Given the description of an element on the screen output the (x, y) to click on. 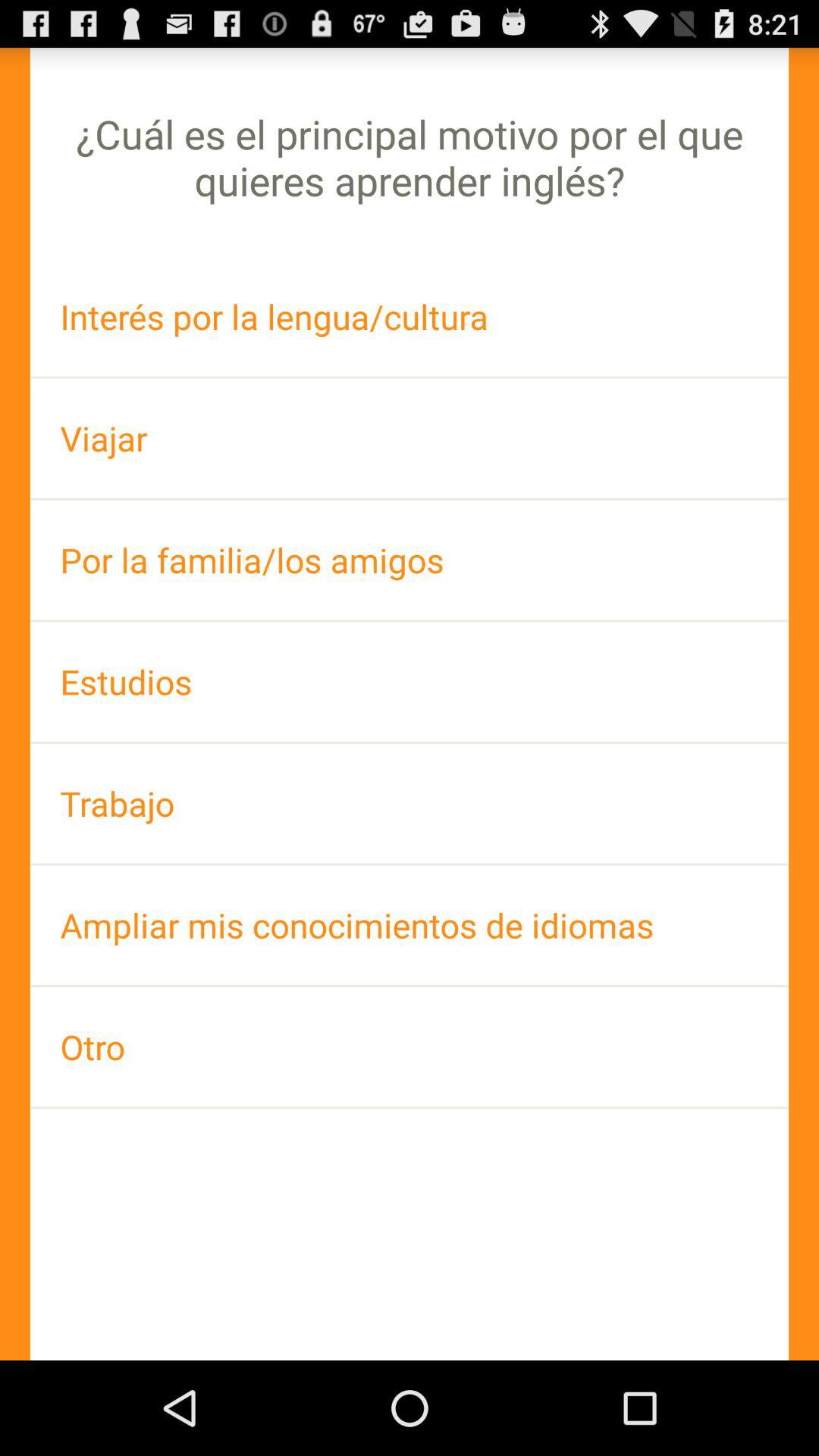
turn on the item below por la familia icon (409, 681)
